Given the description of an element on the screen output the (x, y) to click on. 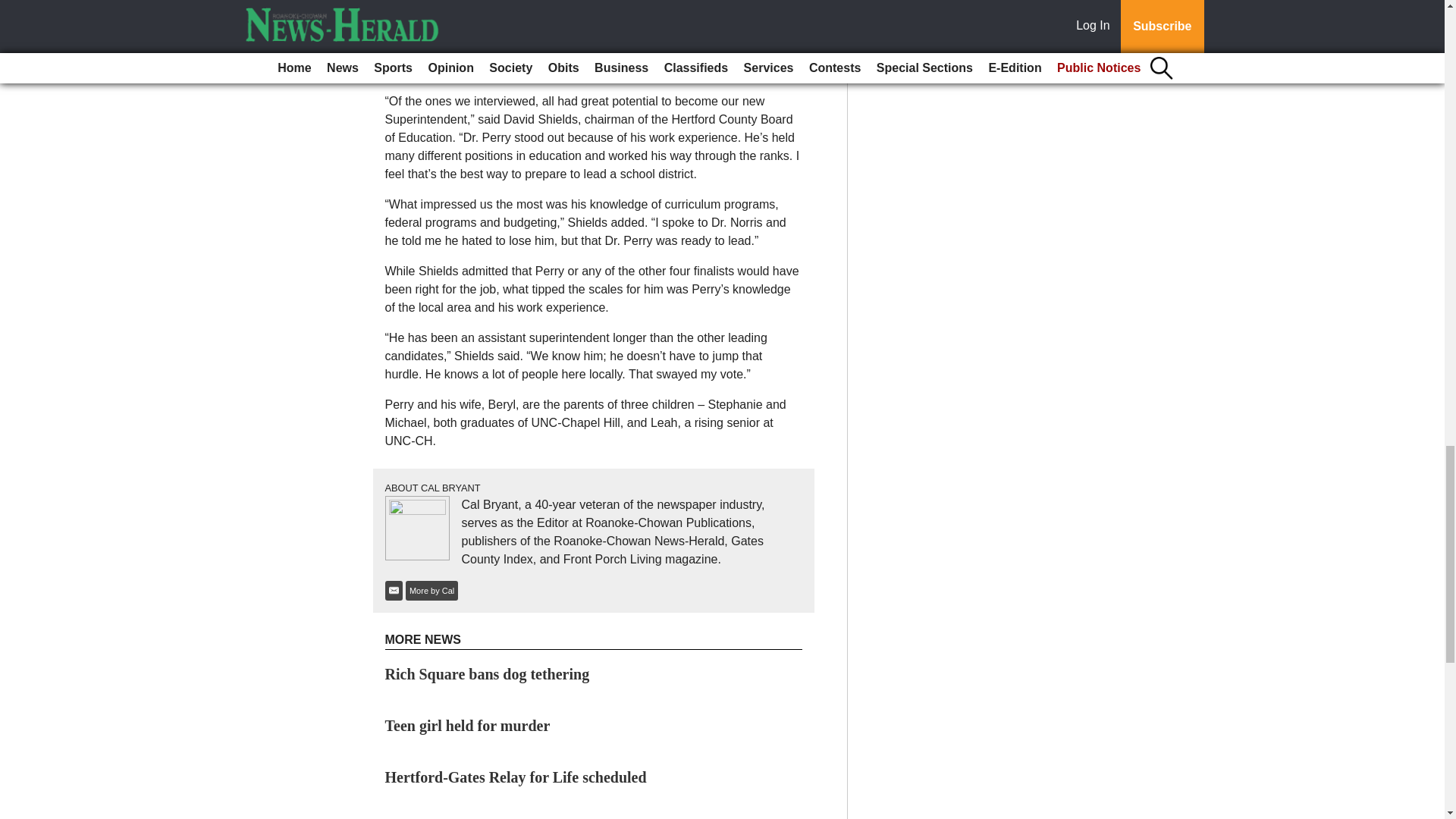
Teen girl held for murder (467, 725)
Hertford-Gates Relay for Life scheduled (515, 777)
More by Cal (432, 590)
Rich Square bans dog tethering (487, 673)
Rich Square bans dog tethering (487, 673)
Teen girl held for murder (467, 725)
Hertford-Gates Relay for Life scheduled (515, 777)
